Given the description of an element on the screen output the (x, y) to click on. 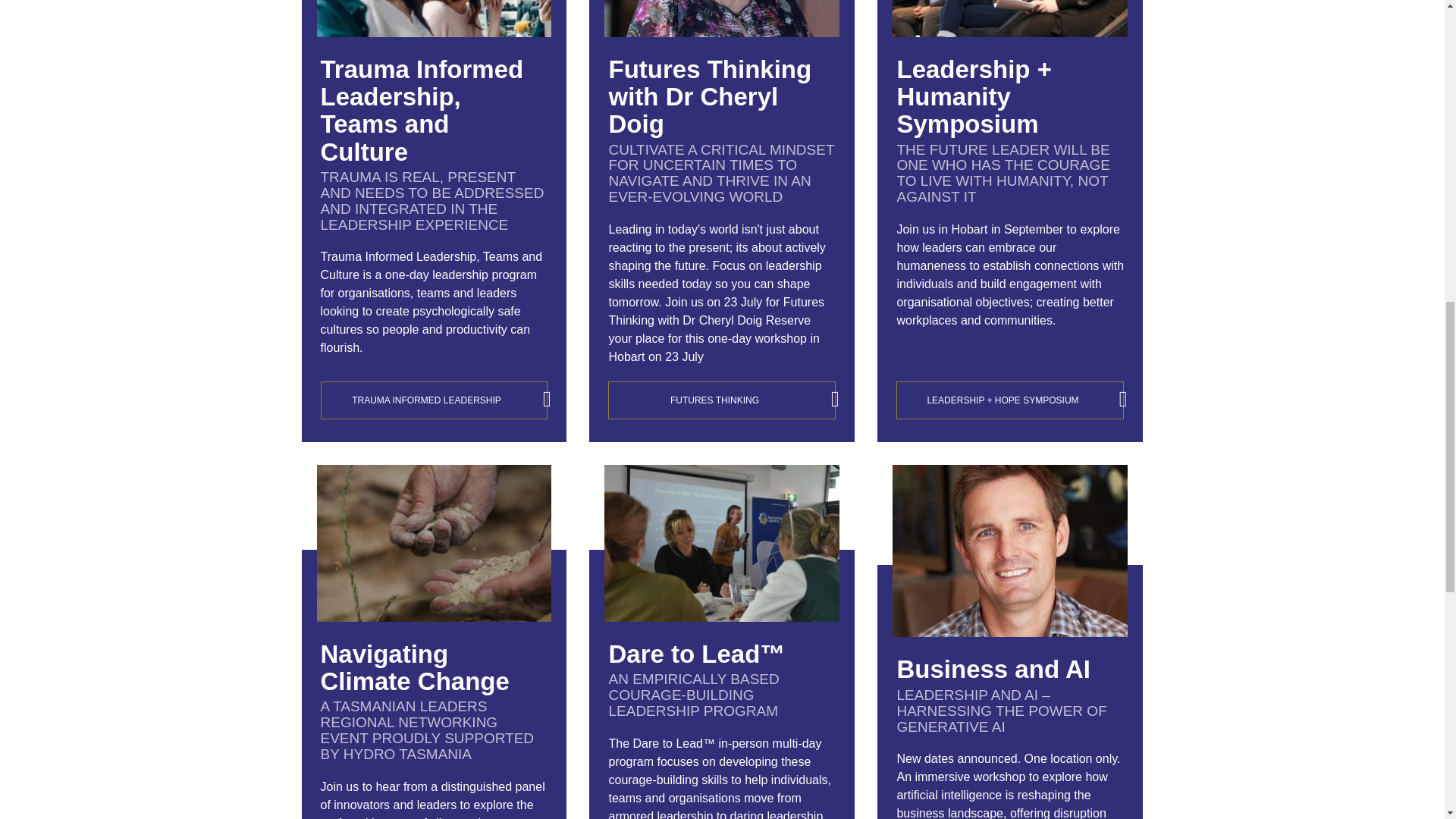
TRAUMA INFORMED LEADERSHIP (433, 400)
FUTURES THINKING (721, 400)
